Given the description of an element on the screen output the (x, y) to click on. 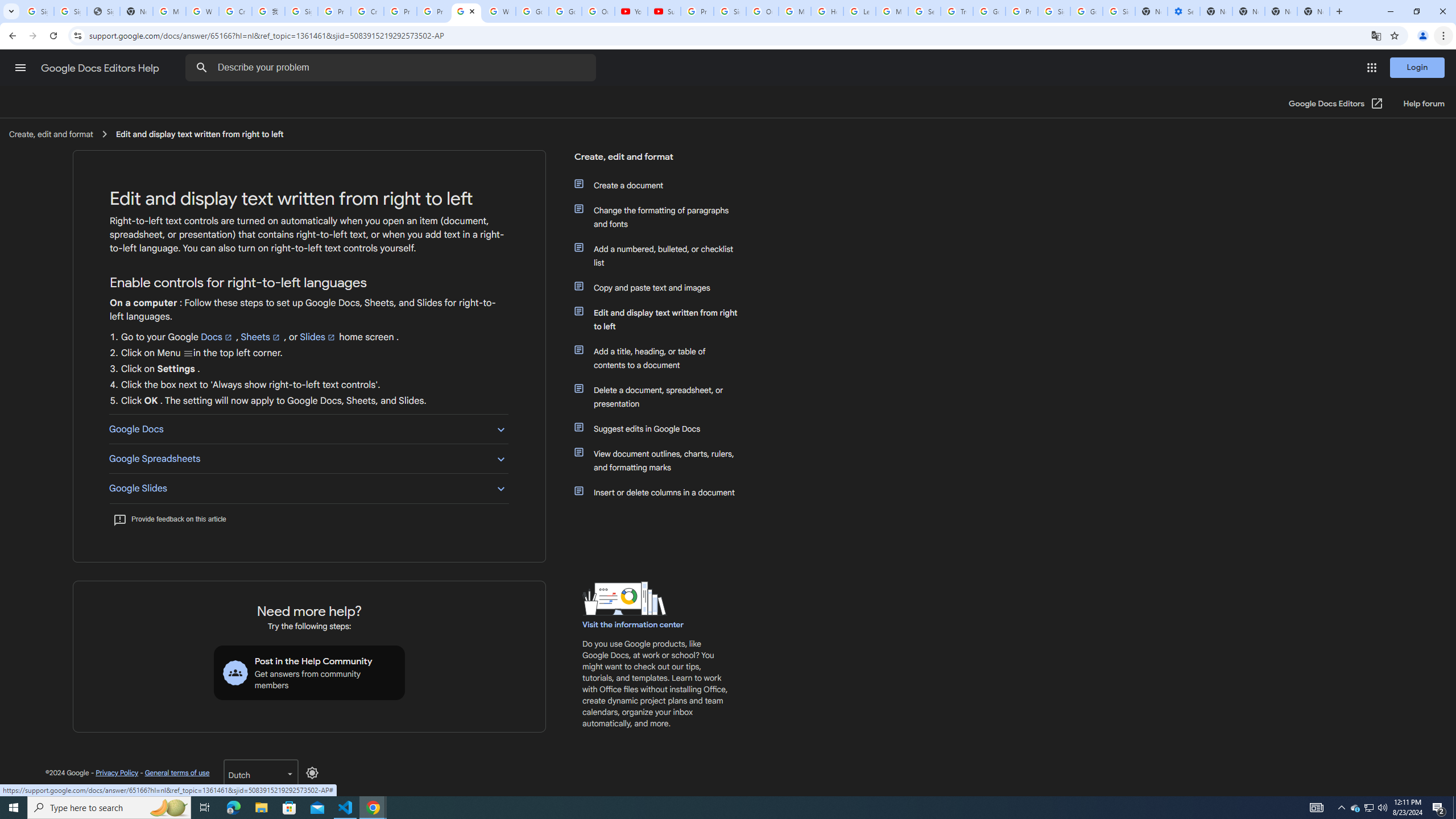
Add a numbered, bulleted, or checklist list (661, 255)
YouTube (631, 11)
Suggest edits in Google Docs (661, 428)
Help forum (1423, 103)
Sign in - Google Accounts (70, 11)
Subscriptions - YouTube (663, 11)
